Given the description of an element on the screen output the (x, y) to click on. 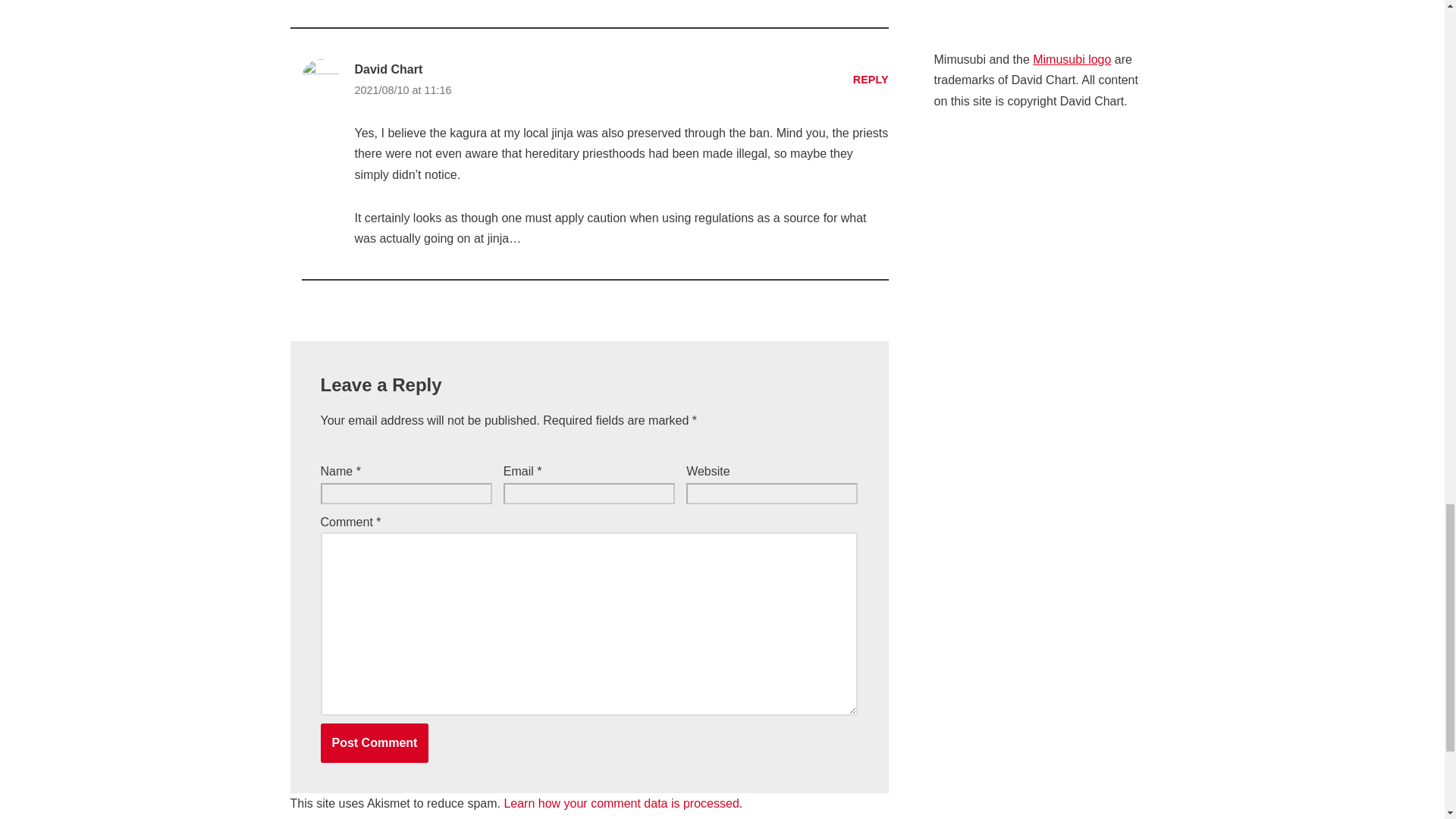
Post Comment (374, 742)
Learn how your comment data is processed (620, 802)
Post Comment (374, 742)
REPLY (870, 79)
